Given the description of an element on the screen output the (x, y) to click on. 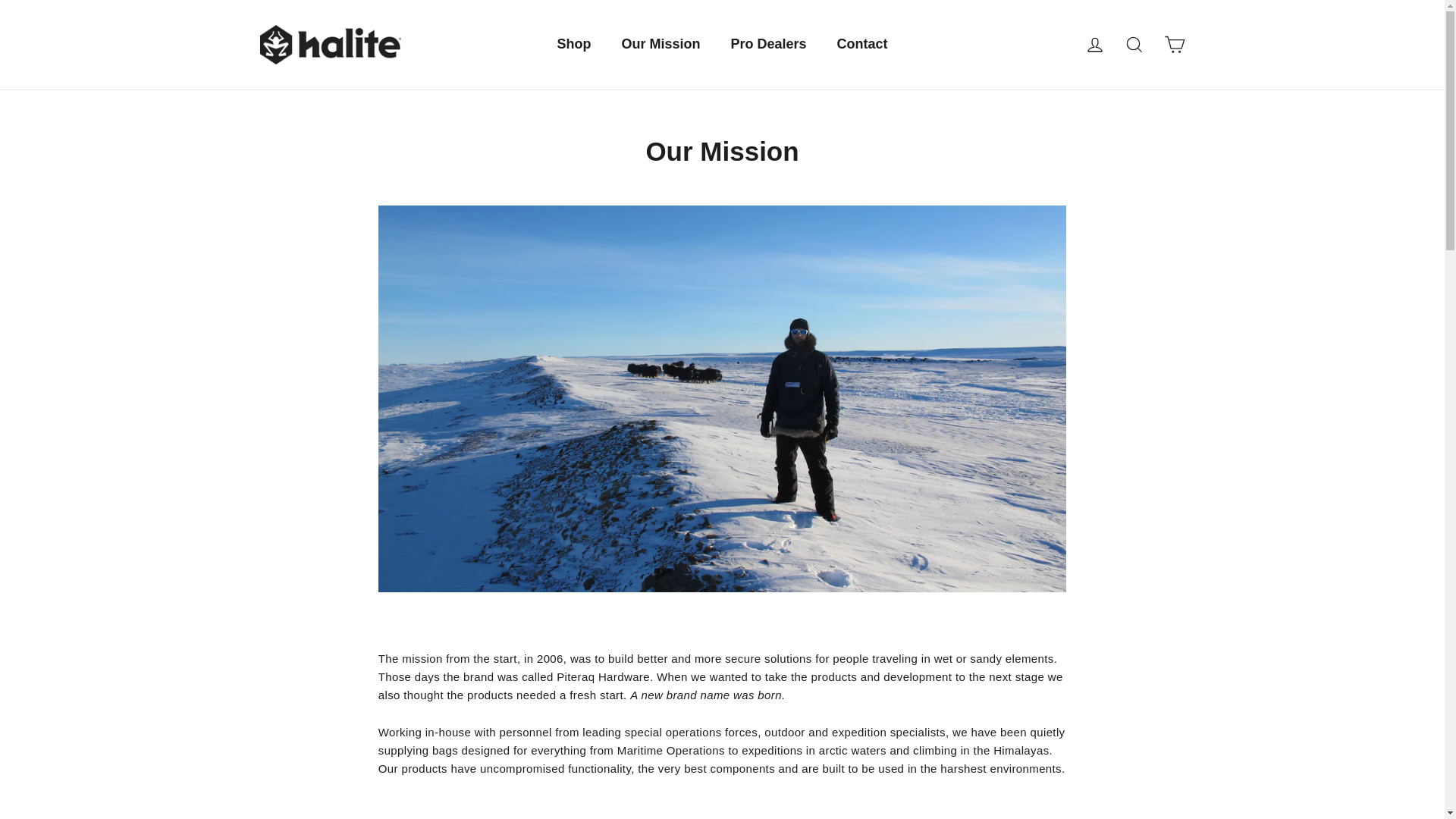
Cart (1173, 44)
Contact (862, 44)
Search (1134, 44)
Our Mission (659, 44)
Log in (1095, 44)
Shop (573, 44)
Pro Dealers (767, 44)
